Given the description of an element on the screen output the (x, y) to click on. 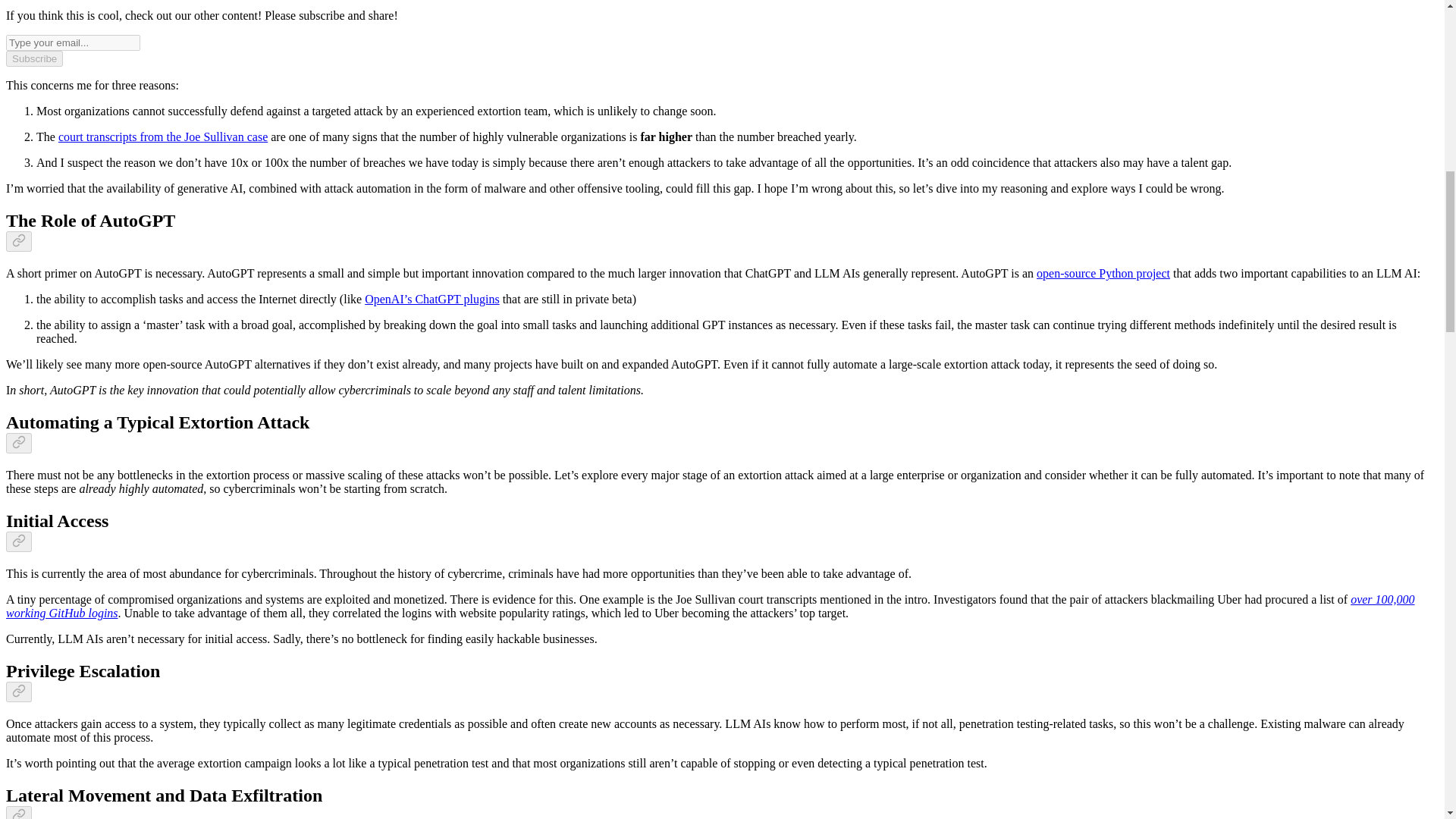
court transcripts from the Joe Sullivan case (162, 136)
over 100,000 working GitHub logins (710, 605)
Subscribe (33, 58)
open-source Python project (1103, 273)
